Given the description of an element on the screen output the (x, y) to click on. 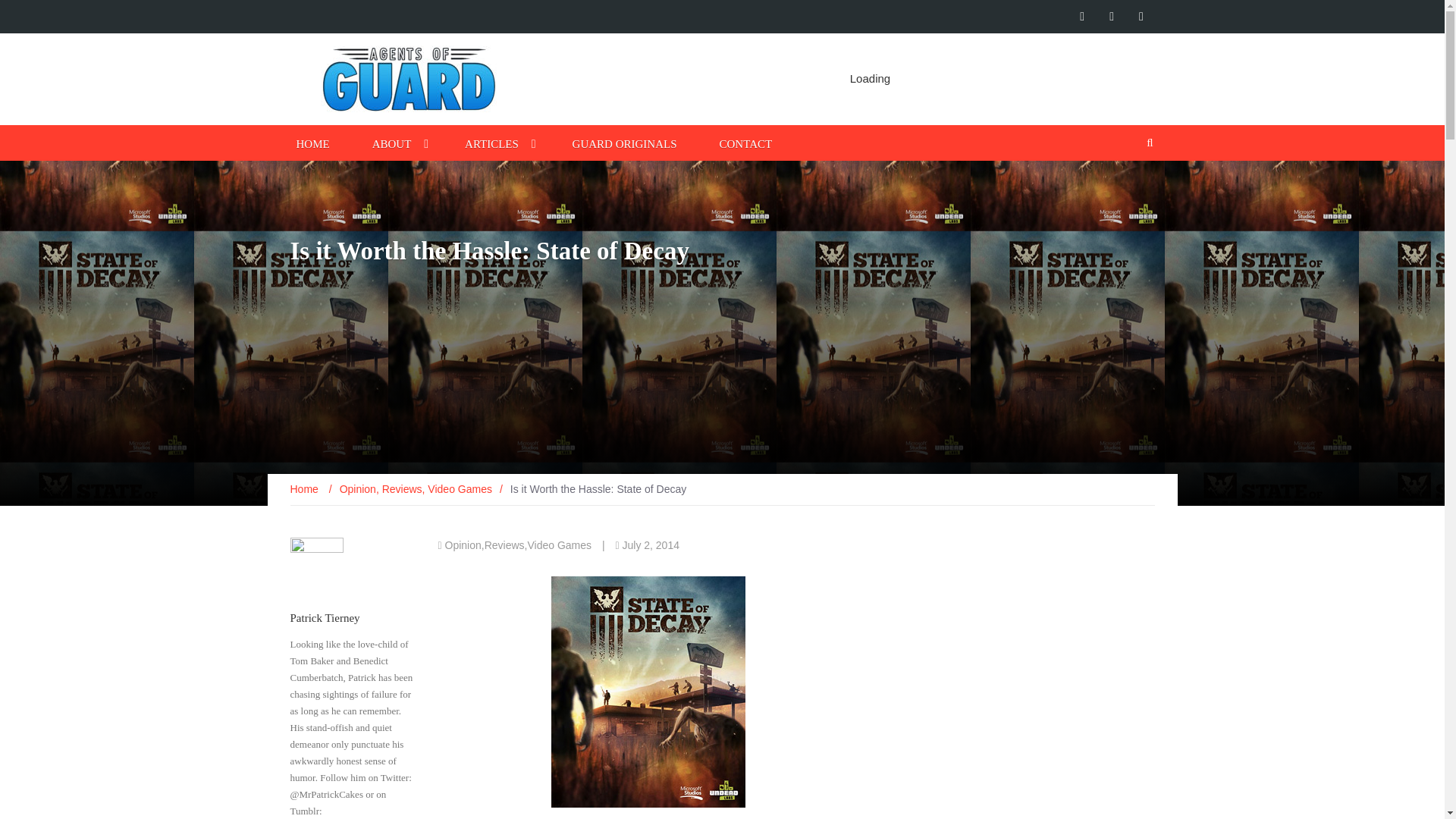
Reviews (401, 489)
Advertisement (861, 79)
Home (304, 489)
Patrick Tierney (324, 617)
Opinion (357, 489)
Reviews (504, 544)
Opinion (463, 544)
Video Games (460, 489)
HOME (311, 142)
Video Games (559, 544)
CONTACT (745, 142)
ABOUT (391, 142)
GUARD ORIGINALS (624, 142)
ARTICLES (491, 142)
Posts by Patrick Tierney (324, 617)
